Given the description of an element on the screen output the (x, y) to click on. 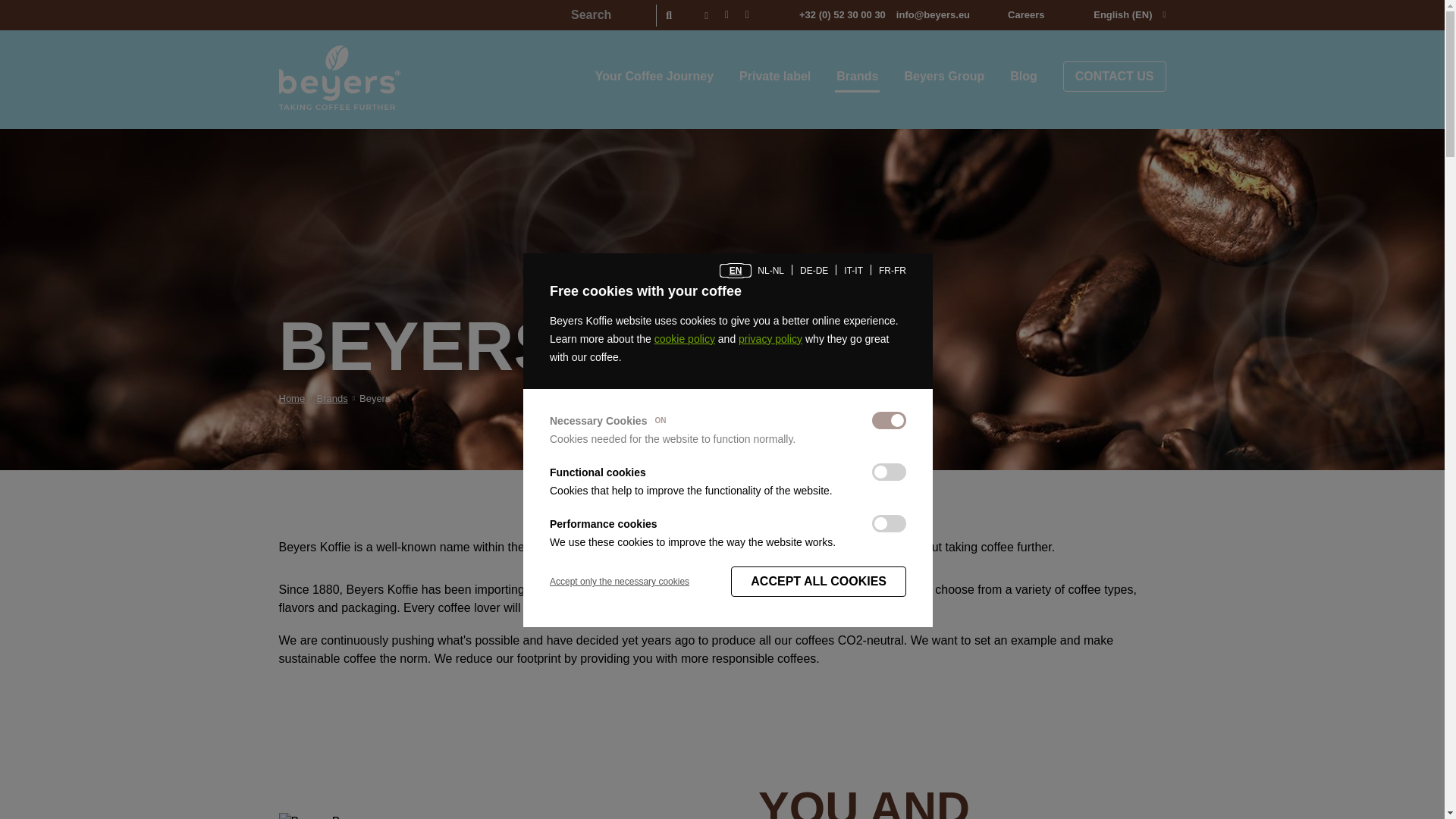
Brands Element type: text (857, 75)
cookie policy Element type: text (684, 338)
https://www.facebook.com/beyerskoffienv/ Element type: text (705, 15)
English (EN) Element type: text (1105, 14)
Private label Element type: text (774, 75)
Brands Element type: text (331, 398)
Home Element type: hover (339, 77)
info@beyers.eu Element type: text (932, 14)
ACCEPT ALL COOKIES Element type: text (818, 580)
Beyers Group Element type: text (943, 75)
Home Element type: text (292, 398)
NL-NL Element type: text (770, 269)
CONTACT US Element type: text (1114, 76)
EN Element type: text (735, 269)
https://www.linkedin.com/company/beyerskoffienv Element type: text (726, 15)
Blog Element type: text (1023, 75)
FR-FR Element type: text (892, 269)
privacy policy Element type: text (770, 338)
Careers Element type: text (1025, 14)
Accept only the necessary cookies Element type: text (619, 581)
Skip to main content Element type: text (0, 0)
DE-DE Element type: text (813, 269)
IT-IT Element type: text (853, 269)
https://www.instagram.com/beyerskoffienv/ Element type: text (746, 15)
APPLY Element type: text (667, 15)
Your Coffee Journey Element type: text (654, 75)
